Given the description of an element on the screen output the (x, y) to click on. 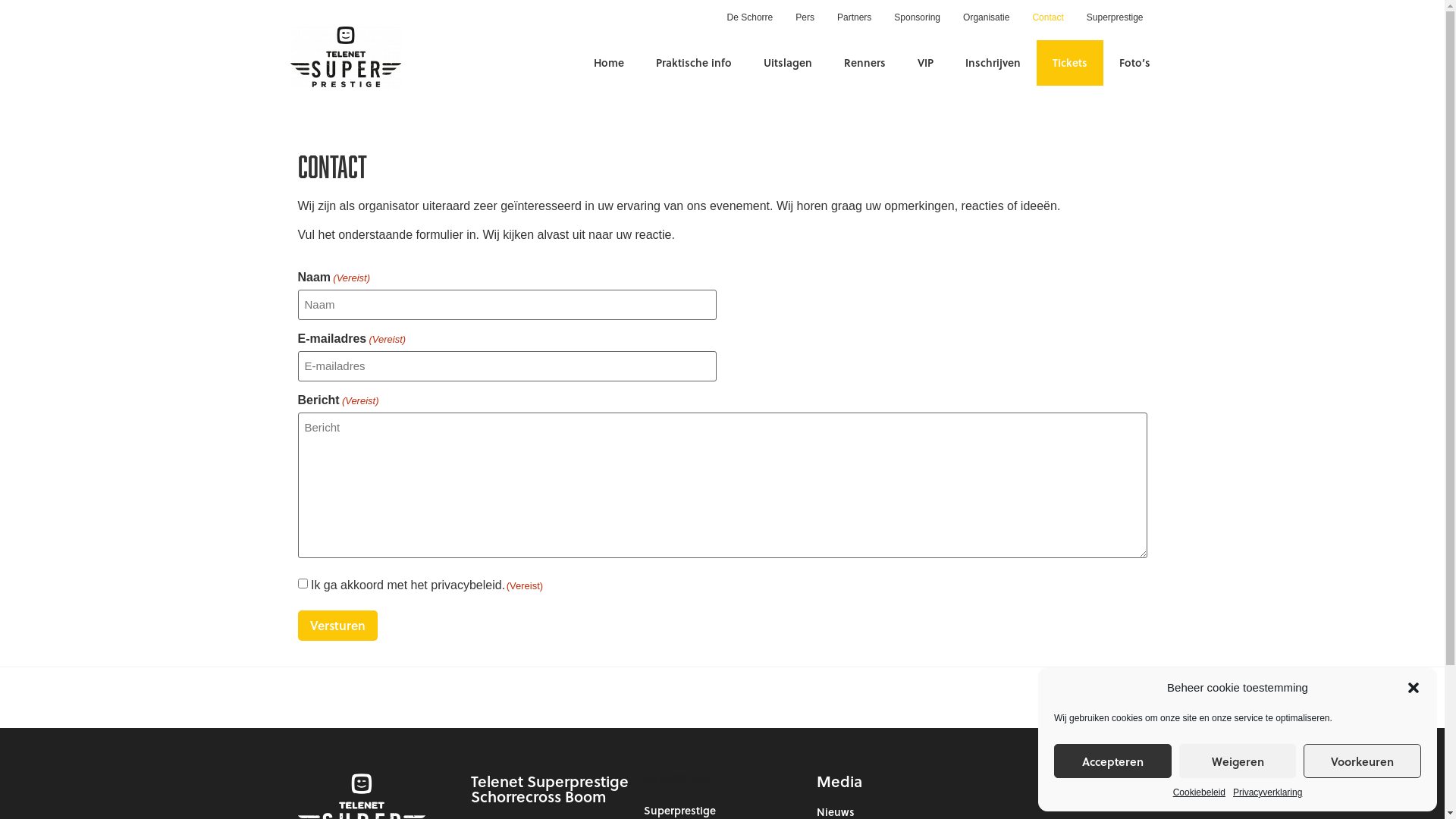
Privacyverklaring Element type: text (1267, 792)
Accepteren Element type: text (1112, 760)
Superprestige Element type: text (721, 810)
Voorkeuren Element type: text (1362, 760)
VIP Element type: text (925, 61)
Praktische info Element type: text (692, 61)
superprestige_logo_black Element type: hover (344, 56)
Cookiebeleid Element type: text (1199, 792)
Uitslagen Element type: text (786, 61)
Superprestige Element type: text (1114, 16)
Renners Element type: text (863, 61)
Sponsoring Element type: text (916, 16)
Partners Element type: text (853, 16)
De Schorre Element type: text (749, 16)
Weigeren Element type: text (1237, 760)
Inschrijven Element type: text (992, 61)
Organisatie Element type: text (985, 16)
Home Element type: text (607, 61)
Versturen Element type: text (336, 625)
Pers Element type: text (804, 16)
Tickets Element type: text (1070, 61)
Contact Element type: text (1047, 16)
